Given the description of an element on the screen output the (x, y) to click on. 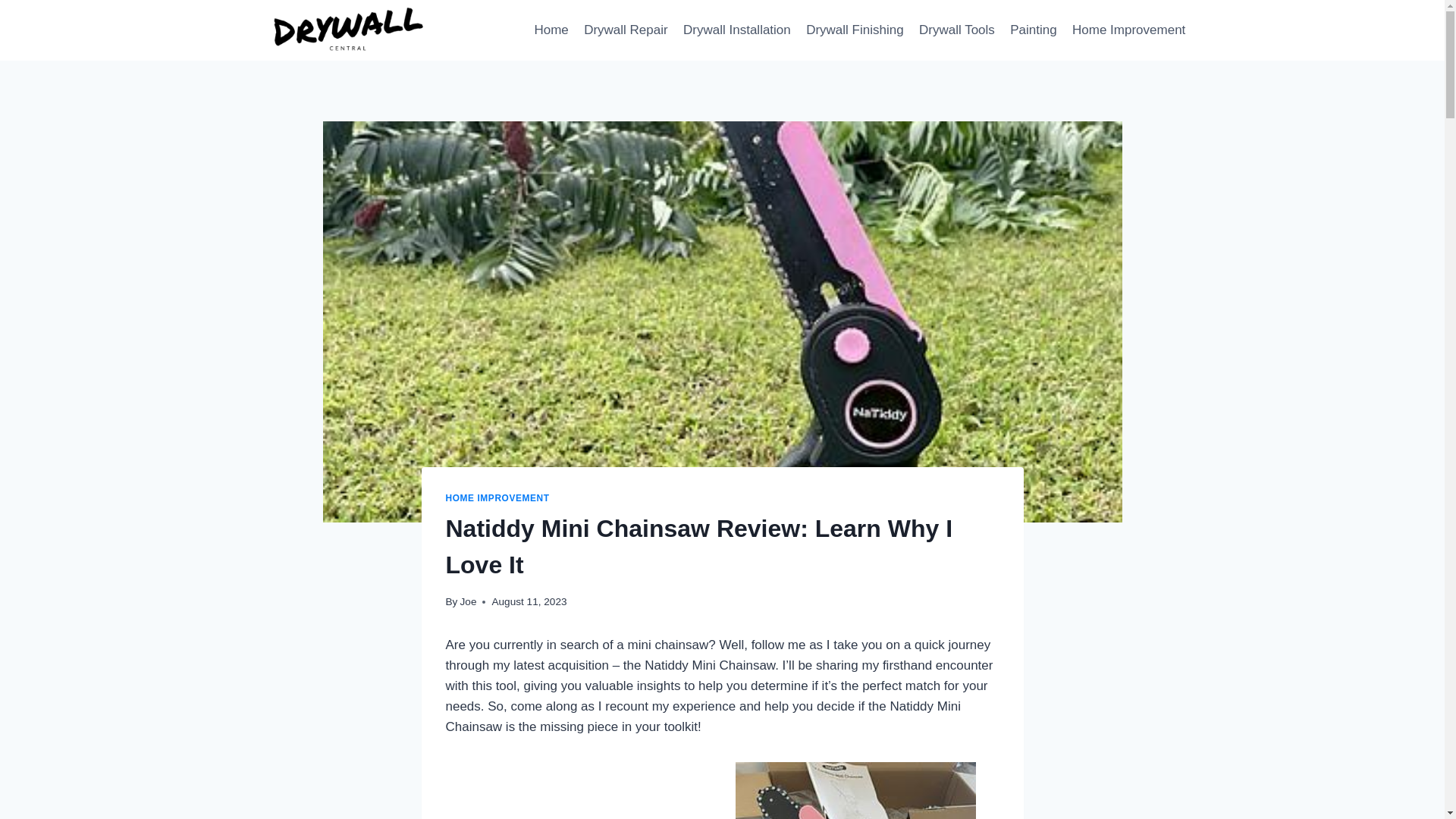
Drywall Repair (625, 30)
Drywall Installation (736, 30)
Joe (468, 601)
Home (550, 30)
Home Improvement (1128, 30)
Painting (1033, 30)
HOME IMPROVEMENT (497, 498)
Drywall Tools (957, 30)
Drywall Finishing (854, 30)
